Given the description of an element on the screen output the (x, y) to click on. 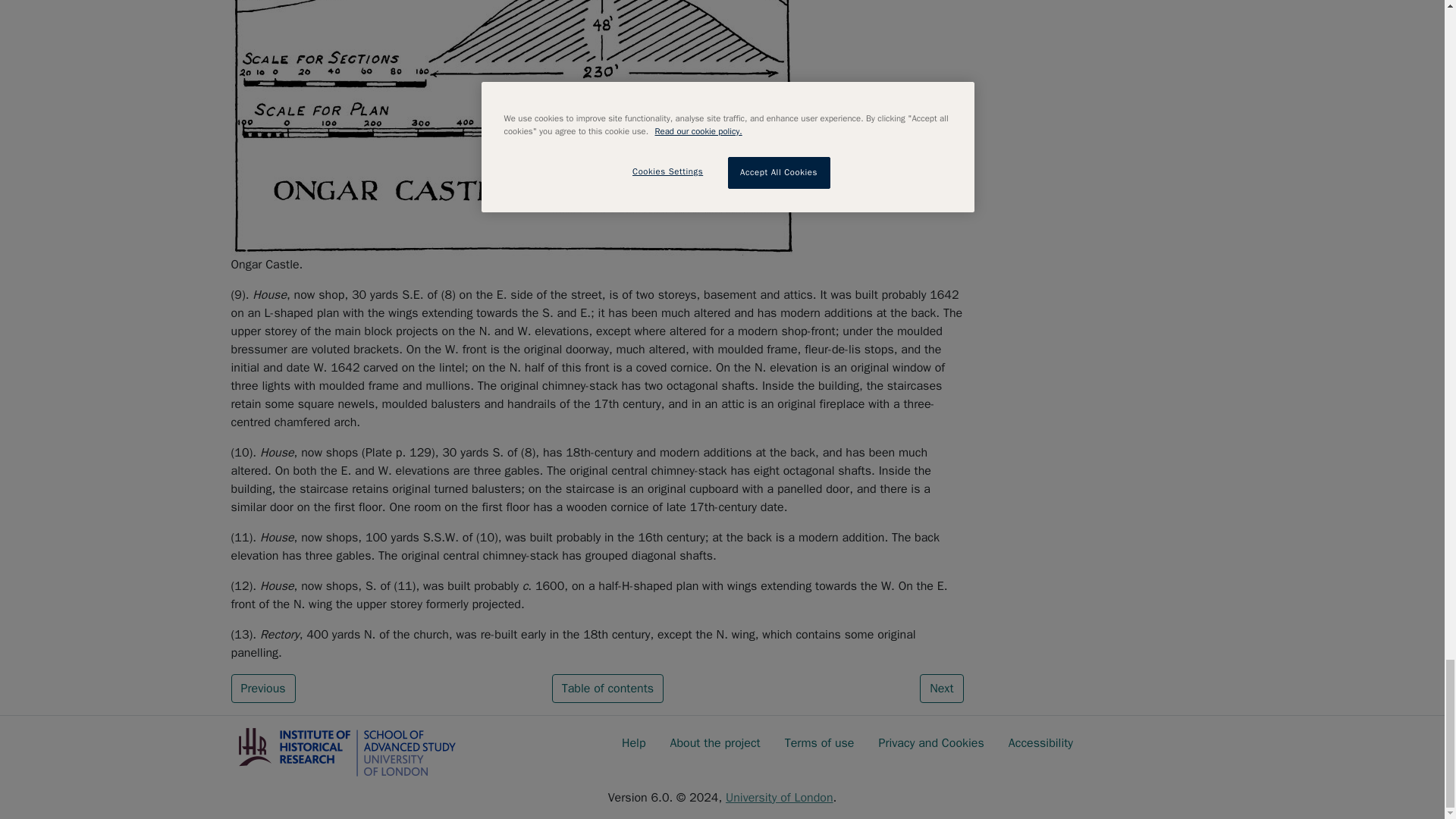
Table of contents (607, 688)
University of London (778, 797)
Help (634, 743)
Terms of use (819, 743)
Privacy and Cookies (930, 743)
Previous (262, 688)
Accessibility (1039, 743)
About the project (715, 743)
Next (941, 688)
